Given the description of an element on the screen output the (x, y) to click on. 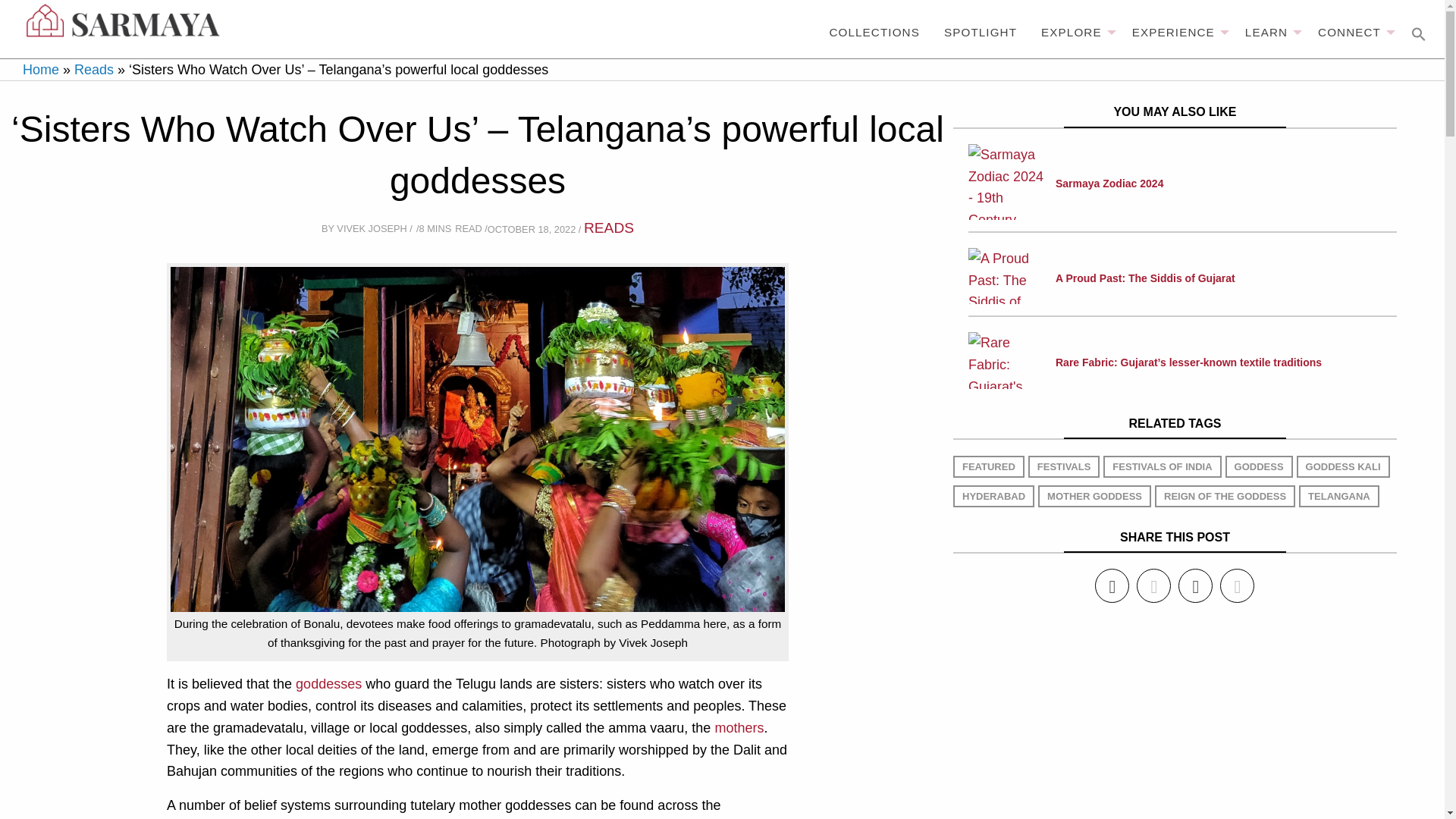
COLLECTIONS (873, 32)
SPOTLIGHT (980, 32)
A Proud Past: The Siddis of Gujarat - Sarmaya (1005, 276)
EXPLORE (1074, 32)
EXPERIENCE (1176, 32)
Sarmaya Zodiac 2024 - Sarmaya (1005, 182)
